Given the description of an element on the screen output the (x, y) to click on. 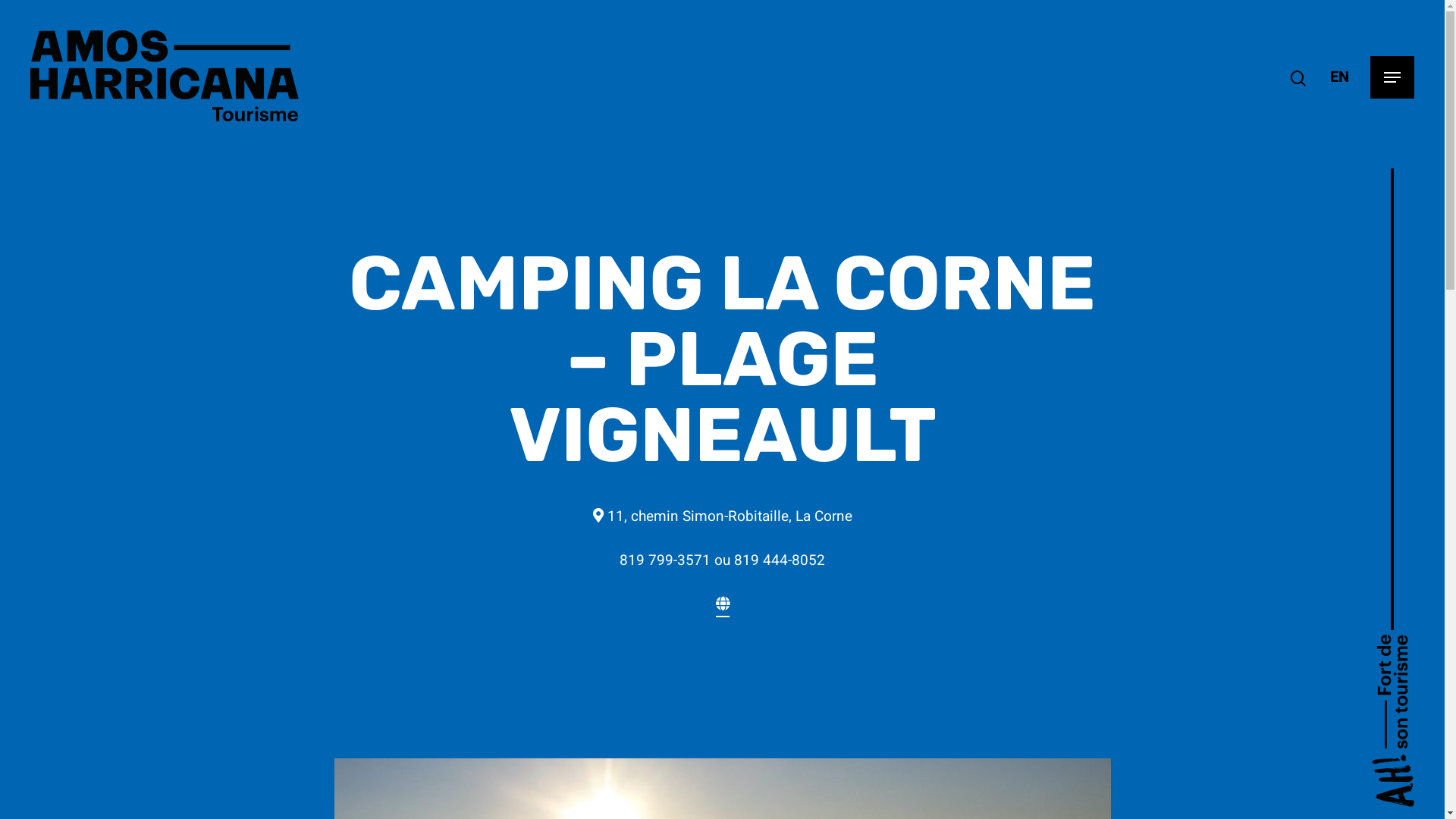
EN Element type: text (1339, 76)
